Given the description of an element on the screen output the (x, y) to click on. 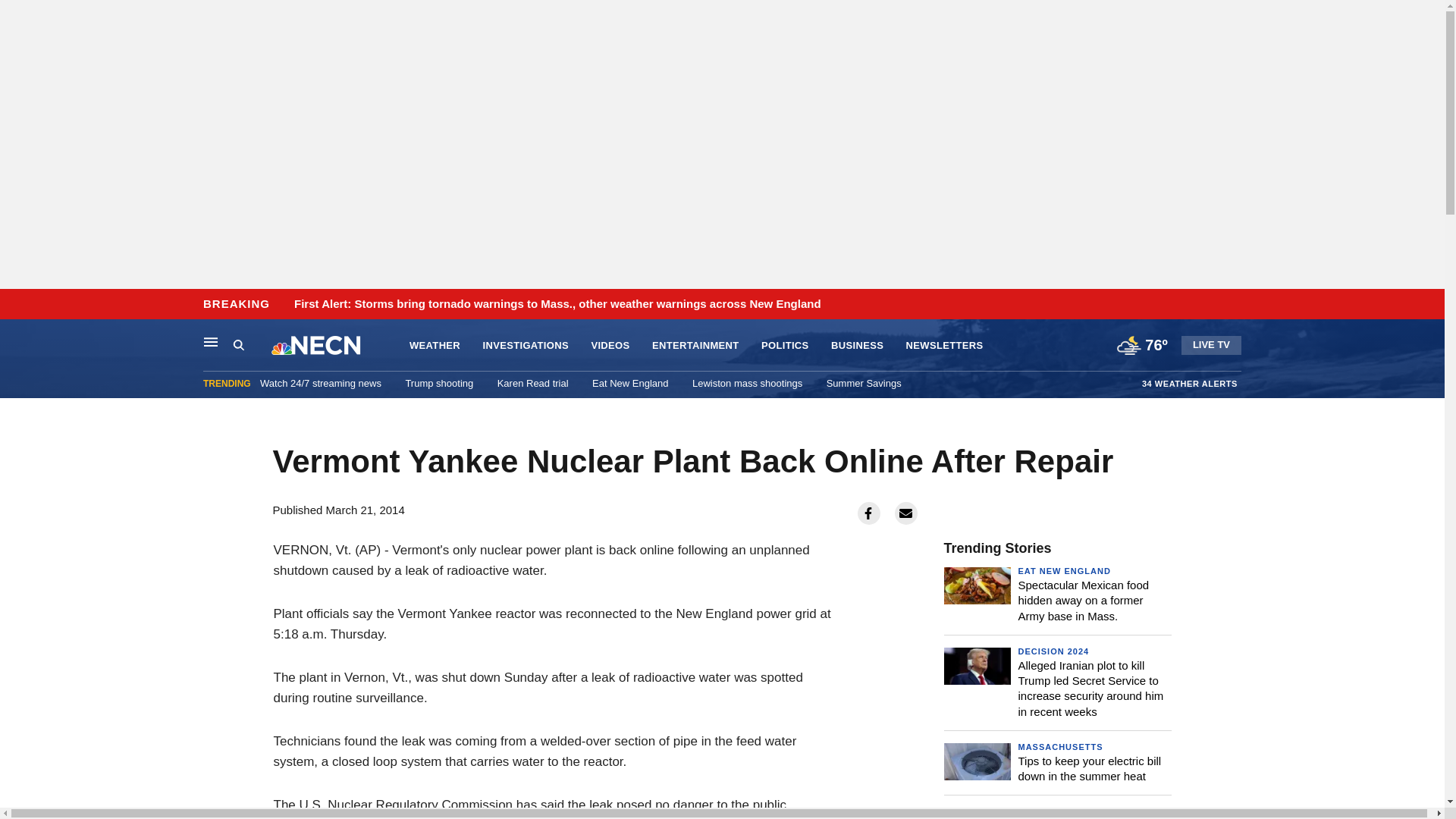
Search (238, 344)
POLITICS (785, 345)
Main Navigation (210, 341)
BUSINESS (857, 345)
34 WEATHER ALERTS (1189, 383)
Lewiston mass shootings (747, 383)
Karen Read trial (533, 383)
Trump shooting (438, 383)
LIVE TV (1210, 343)
Summer Savings (864, 383)
Skip to content (16, 304)
NEWSLETTERS (944, 345)
VIDEOS (609, 345)
